Given the description of an element on the screen output the (x, y) to click on. 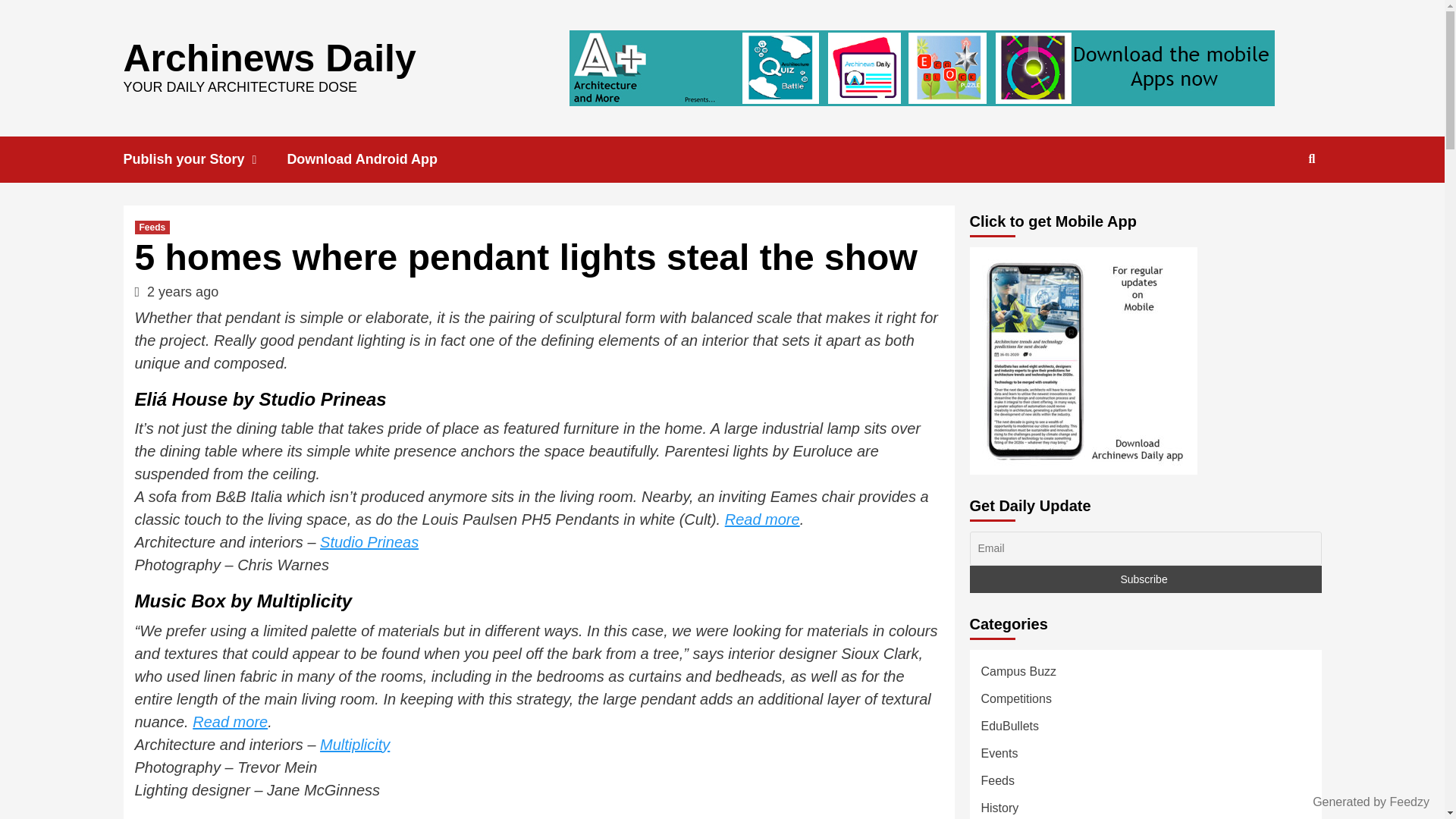
Subscribe  (1144, 578)
Feeds (152, 227)
Multiplicity (355, 744)
Publish your Story (204, 159)
Download Android App (373, 159)
Studio Prineas (369, 541)
2 years ago (182, 291)
Archinews Daily (268, 57)
Click to get Mobile App (1082, 361)
Search (1276, 207)
